Given the description of an element on the screen output the (x, y) to click on. 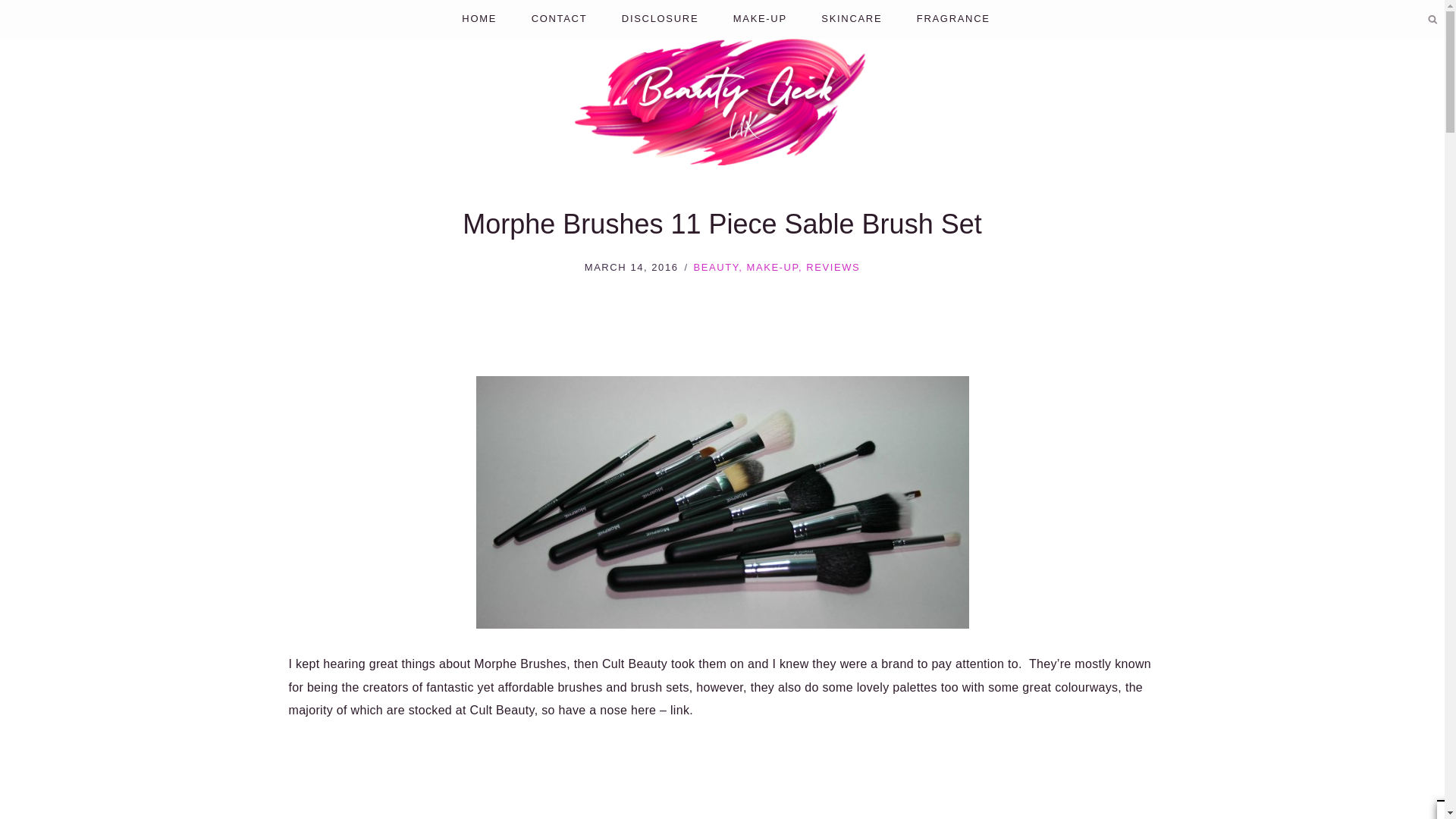
CONTACT (558, 19)
MAKE-UP (771, 266)
HOME (479, 19)
BEAUTY (715, 266)
FRAGRANCE (953, 19)
DISCLOSURE (660, 19)
MAKE-UP (760, 19)
REVIEWS (833, 266)
SKINCARE (852, 19)
